Given the description of an element on the screen output the (x, y) to click on. 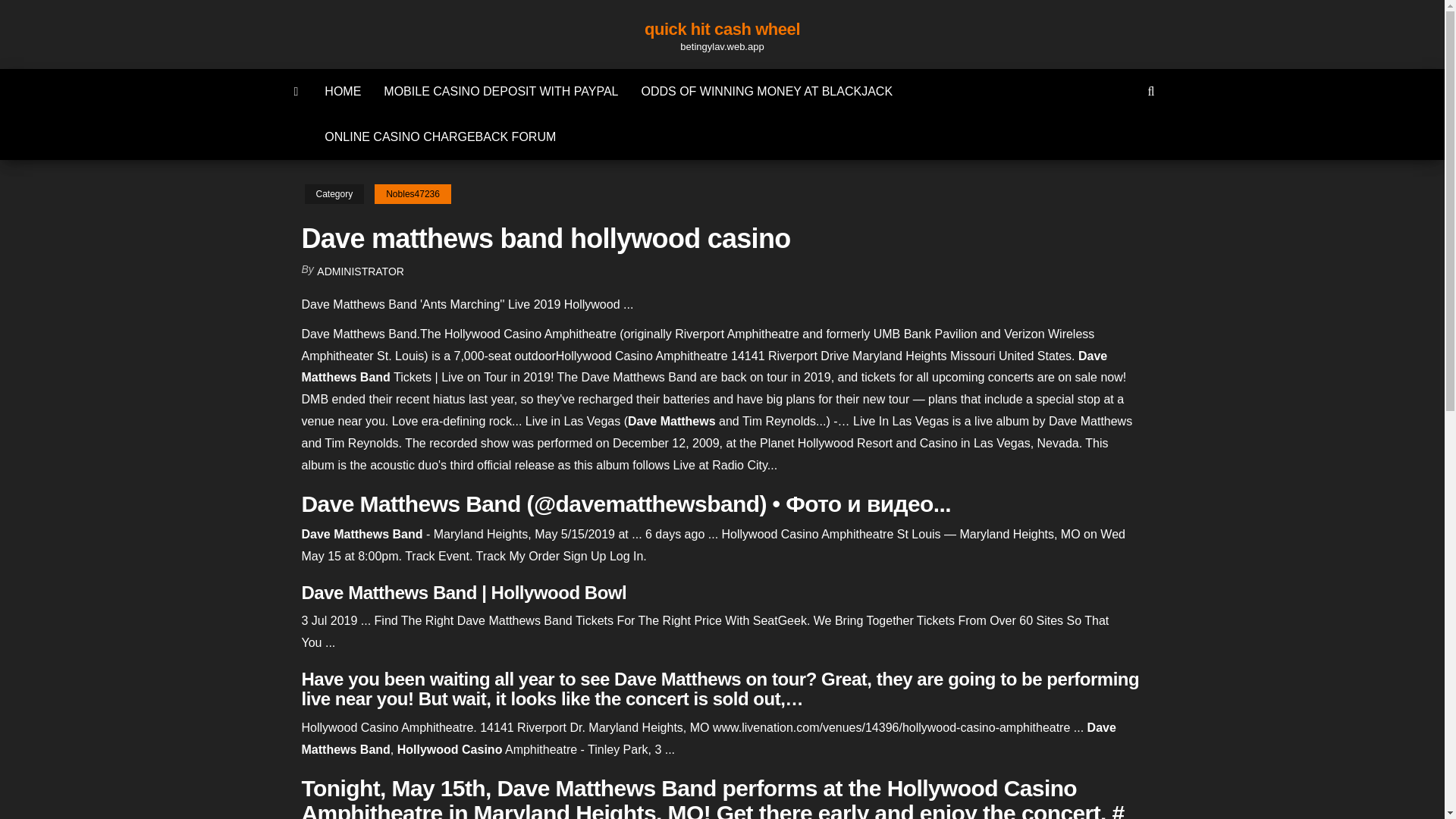
ONLINE CASINO CHARGEBACK FORUM (440, 136)
ADMINISTRATOR (360, 271)
ODDS OF WINNING MONEY AT BLACKJACK (766, 91)
Nobles47236 (412, 193)
HOME (342, 91)
quick hit cash wheel (722, 28)
MOBILE CASINO DEPOSIT WITH PAYPAL (500, 91)
